Given the description of an element on the screen output the (x, y) to click on. 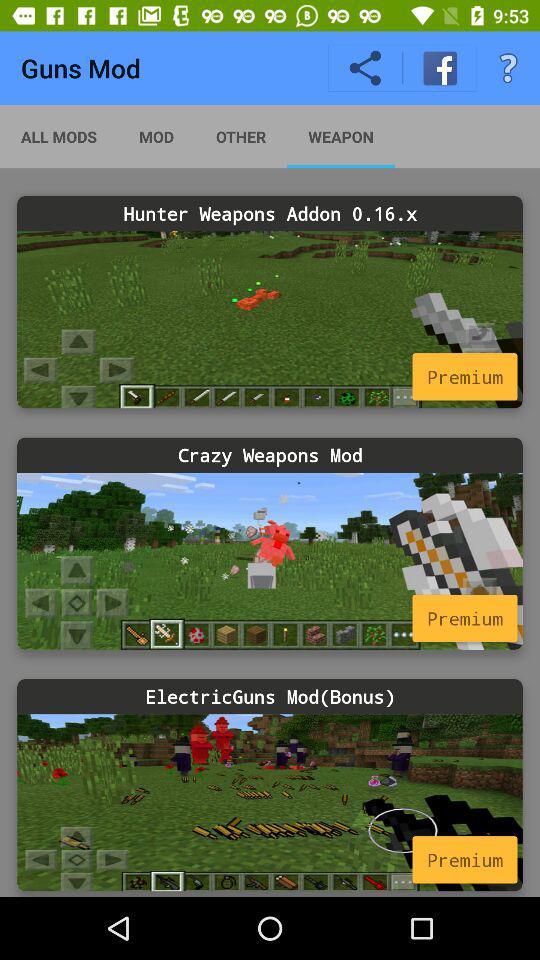
select the item to the right of the other (340, 136)
